Given the description of an element on the screen output the (x, y) to click on. 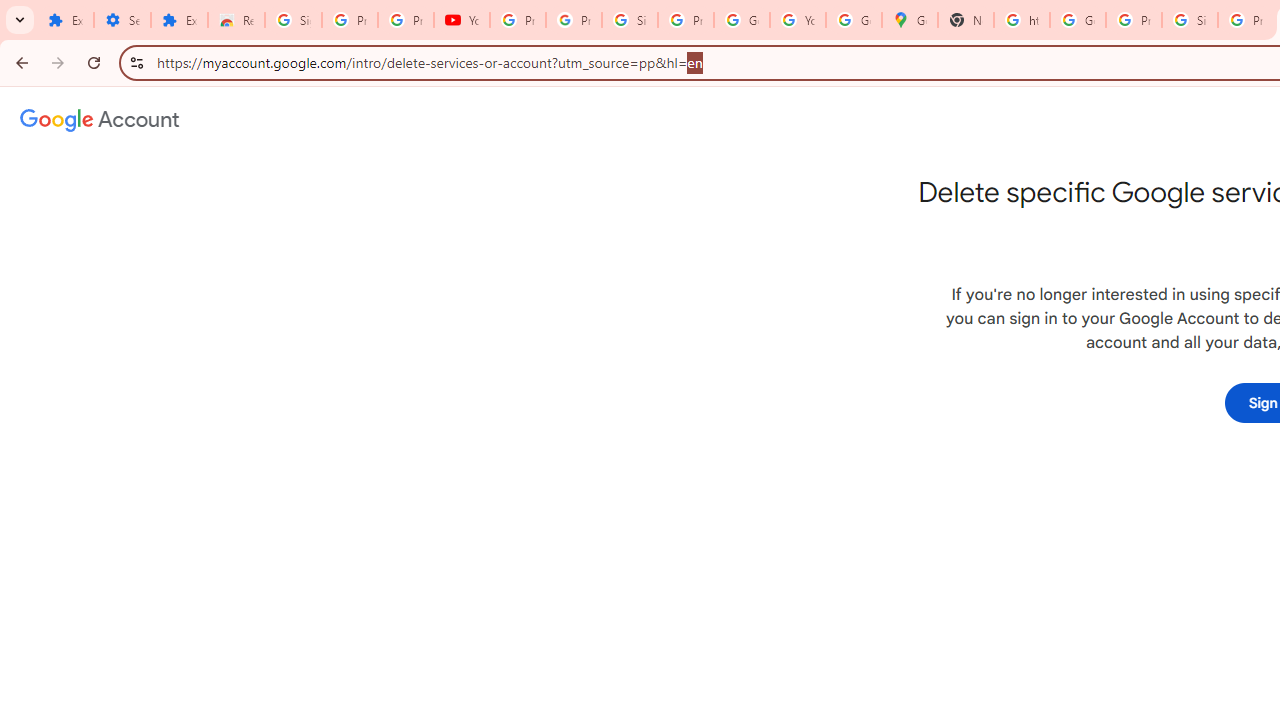
Sign in - Google Accounts (293, 20)
Google Account (742, 20)
New Tab (966, 20)
Extensions (179, 20)
Sign in - Google Accounts (629, 20)
